Given the description of an element on the screen output the (x, y) to click on. 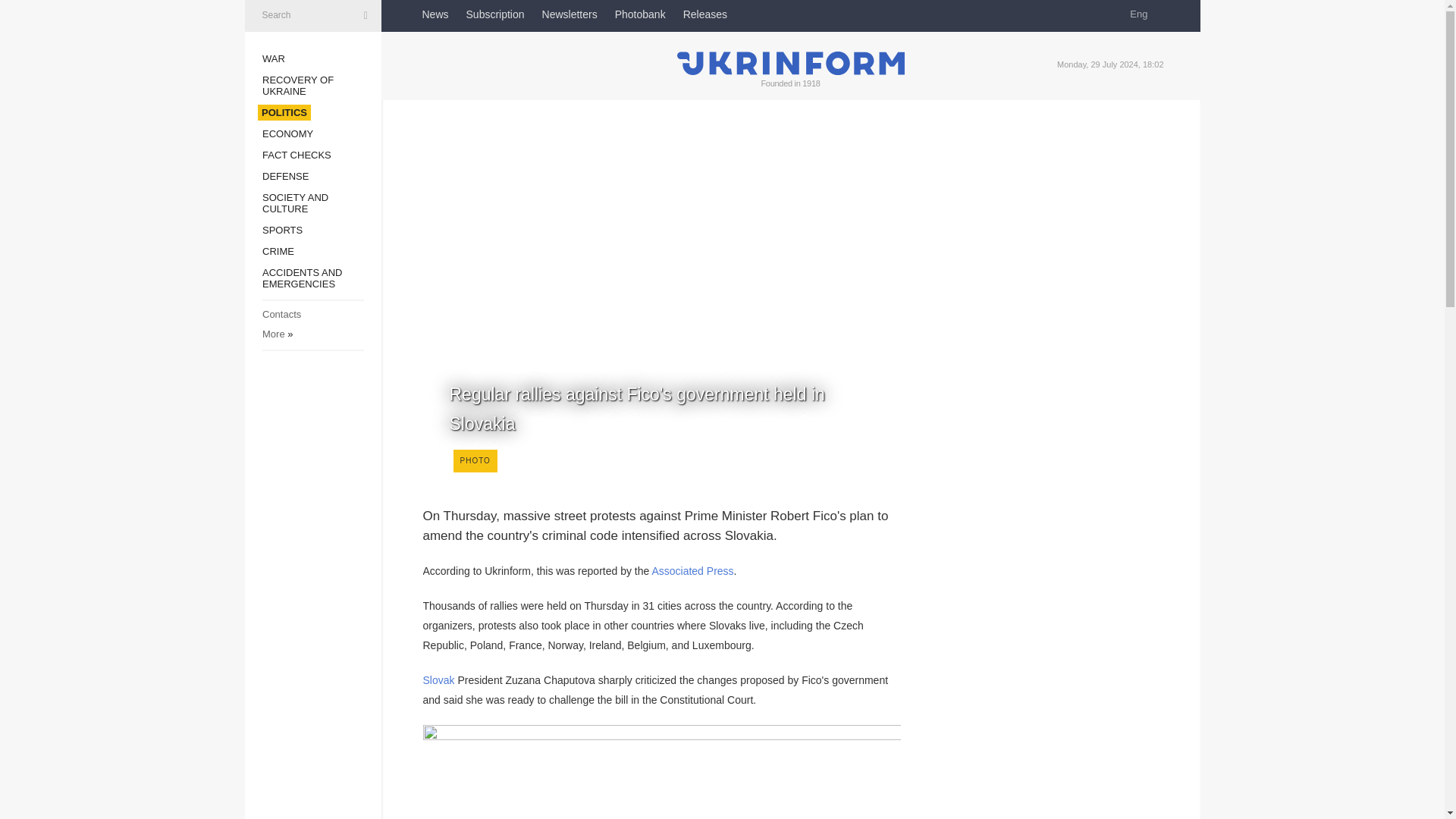
WAR (273, 58)
DEFENSE (285, 175)
Photobank (639, 14)
CRIME (278, 251)
ECONOMY (287, 133)
Eng (1143, 14)
RECOVERY OF UKRAINE (297, 85)
FreeDOM (767, 14)
SPORTS (282, 229)
POLITICS (283, 112)
Regular rallies against Fico's government held in Slovakia (662, 355)
Newsletters (568, 14)
ACCIDENTS AND EMERGENCIES (302, 277)
News (435, 14)
Contacts (281, 314)
